Given the description of an element on the screen output the (x, y) to click on. 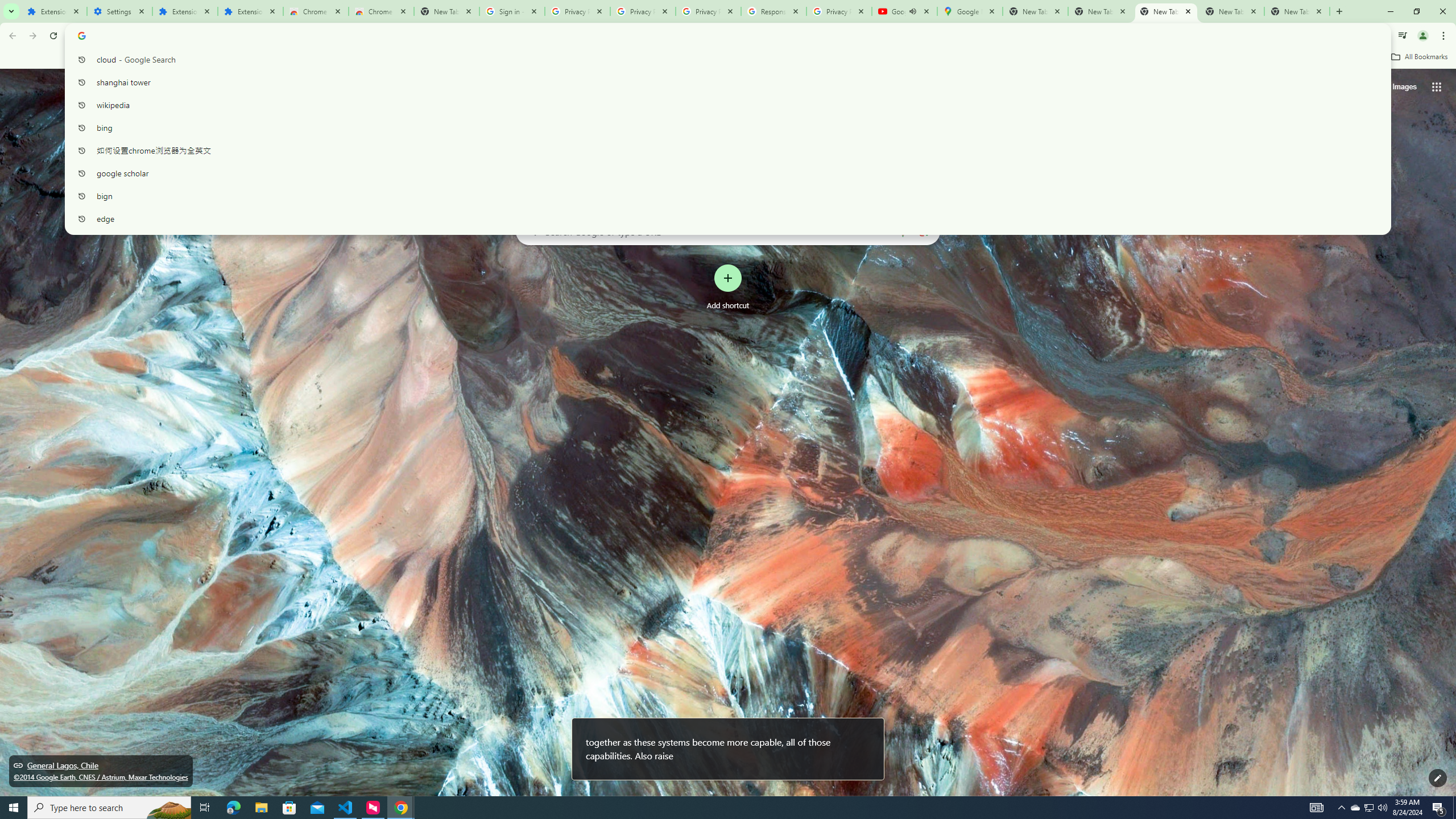
New Tab (446, 11)
wikipedia search from history (723, 105)
Add shortcut (727, 287)
edge search from history (723, 218)
Extensions (53, 11)
